Given the description of an element on the screen output the (x, y) to click on. 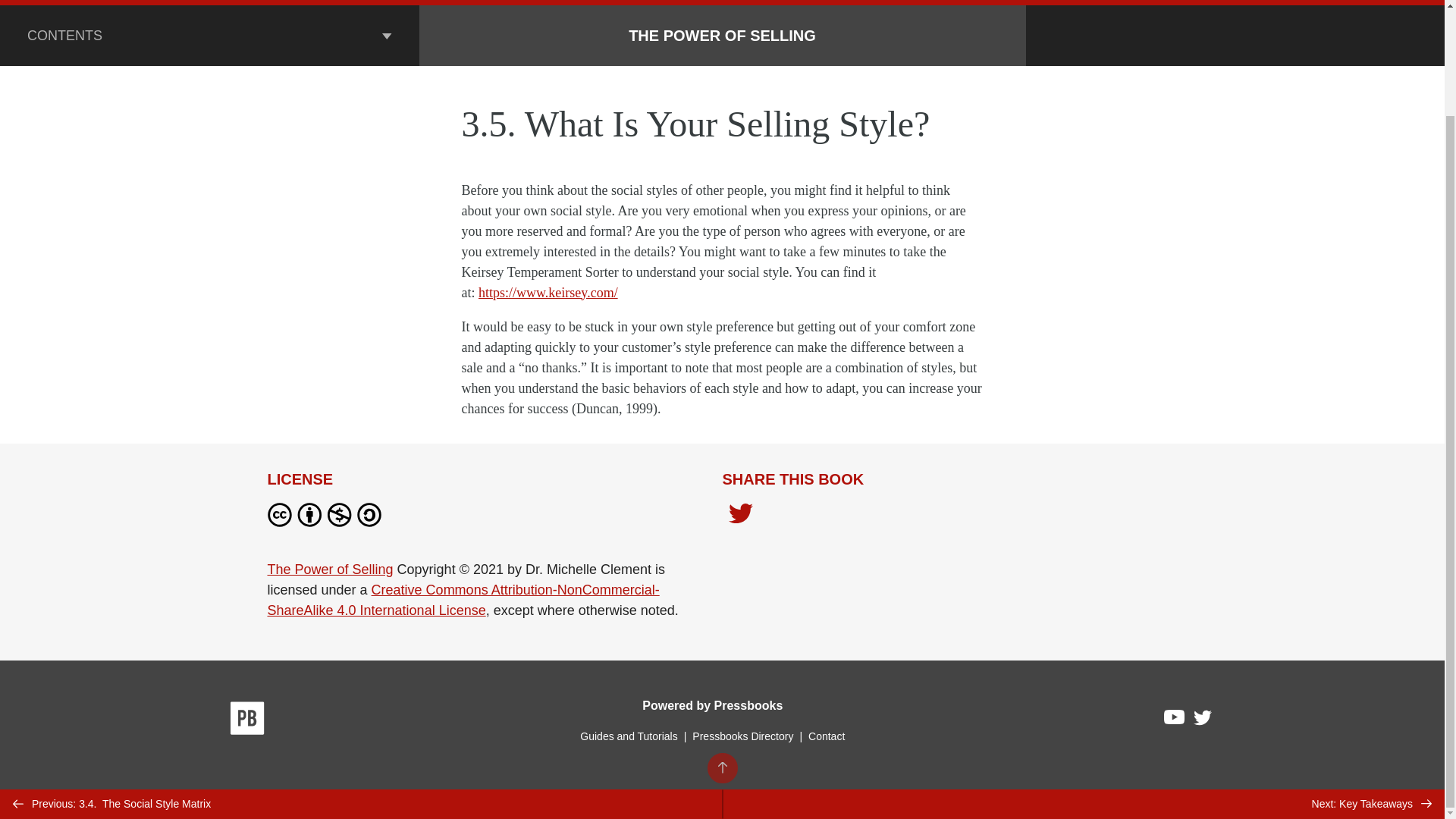
Share on Twitter (740, 514)
THE POWER OF SELLING (721, 35)
CONTENTS (209, 35)
Powered by Pressbooks (712, 705)
Contact (826, 736)
Pressbooks on YouTube (1174, 721)
Pressbooks Directory (742, 736)
The Power of Selling (329, 569)
Guides and Tutorials (627, 736)
BACK TO TOP (721, 644)
Previous: 3.4.  The Social Style Matrix (361, 680)
Share on Twitter (740, 517)
